Given the description of an element on the screen output the (x, y) to click on. 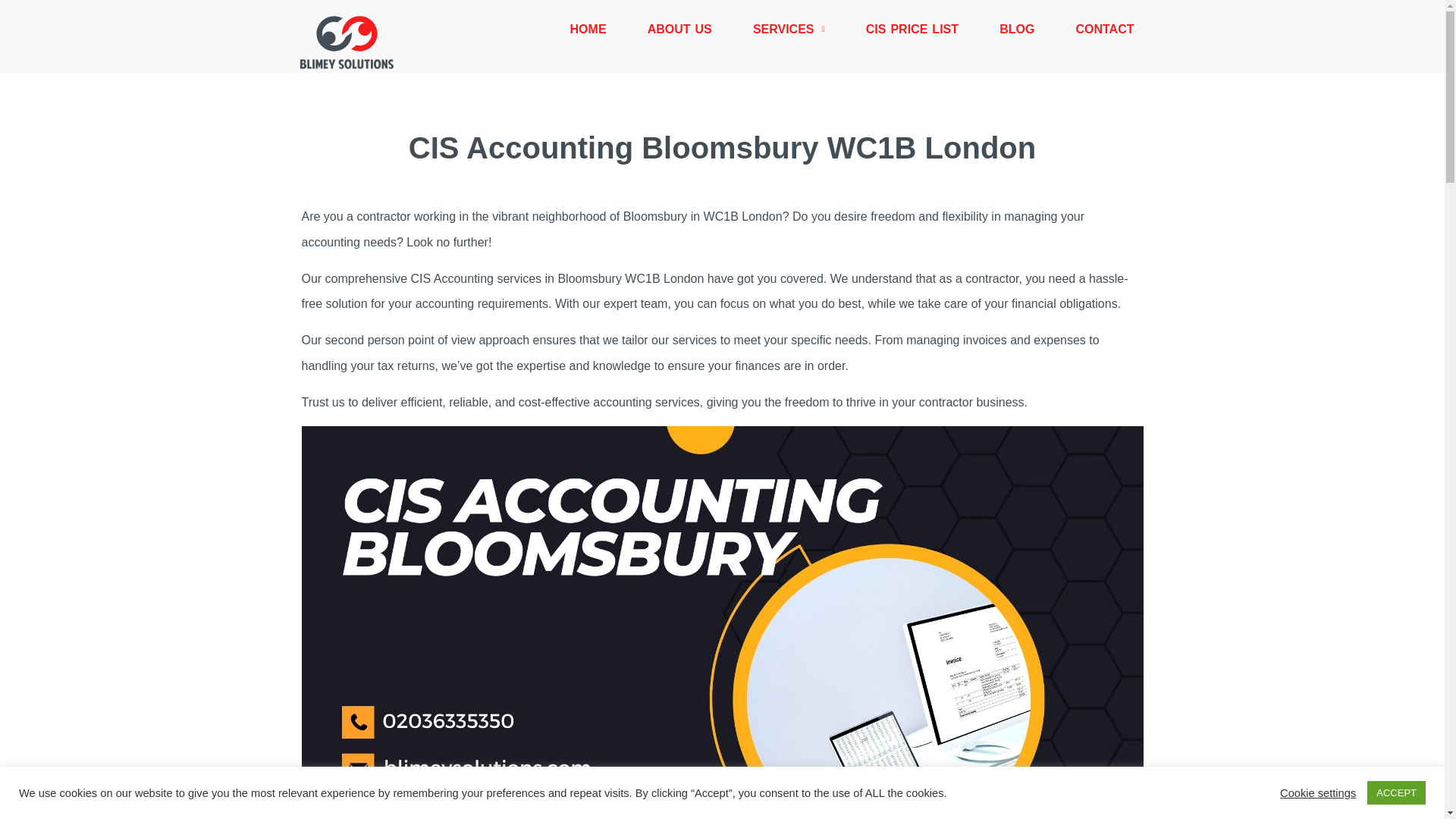
CIS PRICE LIST (911, 28)
ABOUT US (679, 28)
HOME (587, 28)
CONTACT (1104, 28)
SERVICES (788, 28)
BLOG (1016, 28)
